Given the description of an element on the screen output the (x, y) to click on. 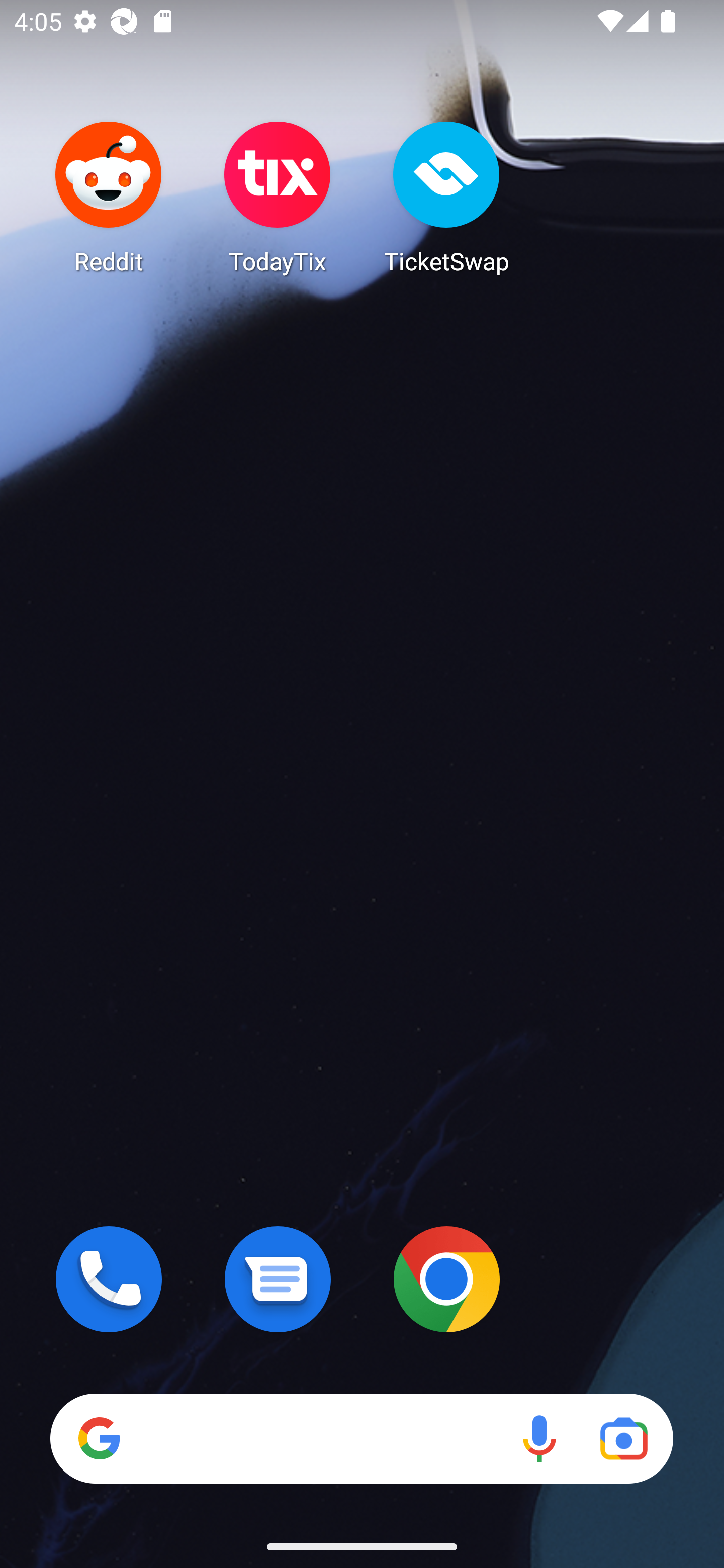
Reddit (108, 196)
TodayTix (277, 196)
TicketSwap (445, 196)
Phone (108, 1279)
Messages (277, 1279)
Chrome (446, 1279)
Voice search (539, 1438)
Google Lens (623, 1438)
